Given the description of an element on the screen output the (x, y) to click on. 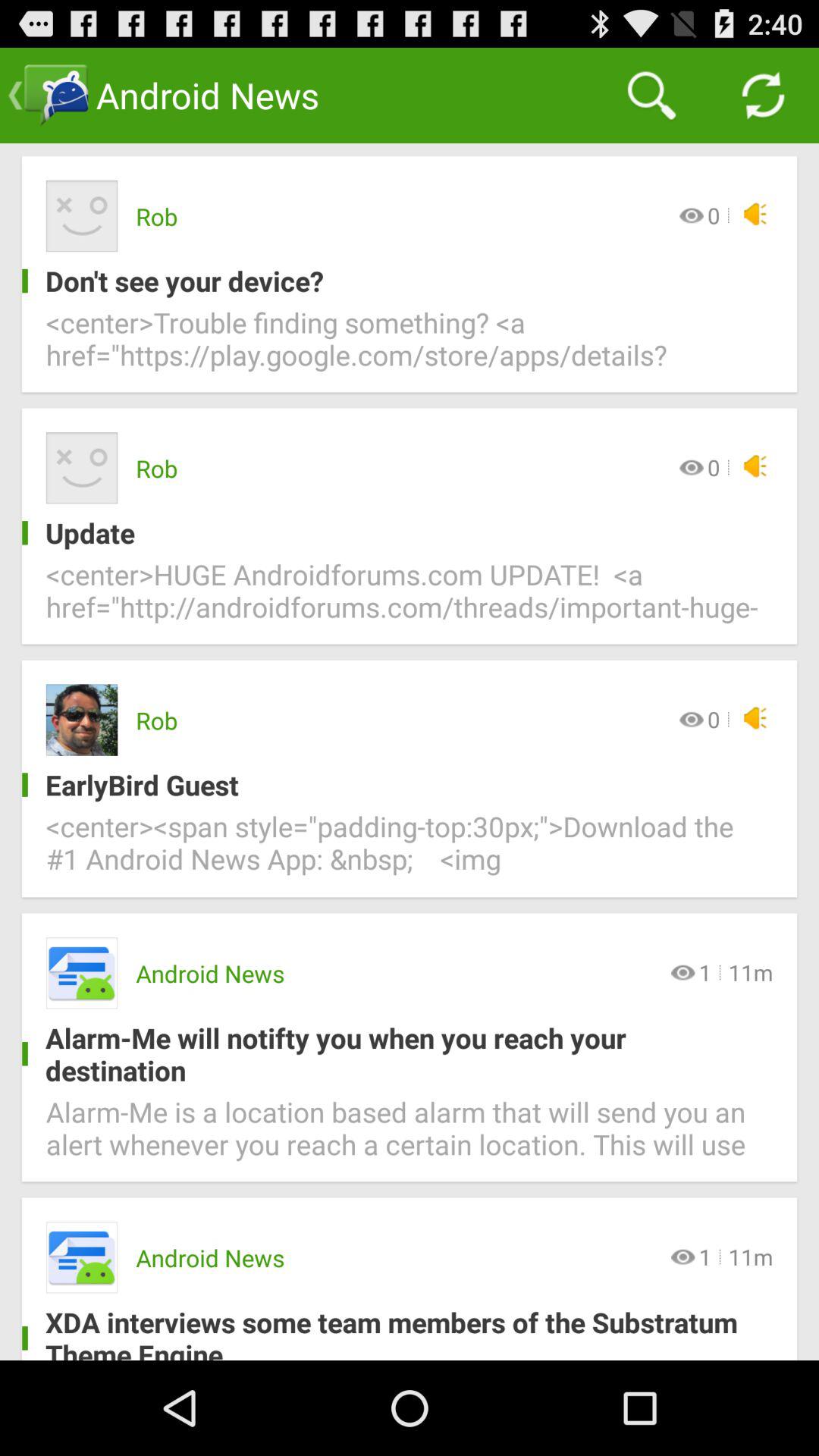
turn off xda interviews some item (397, 1331)
